Given the description of an element on the screen output the (x, y) to click on. 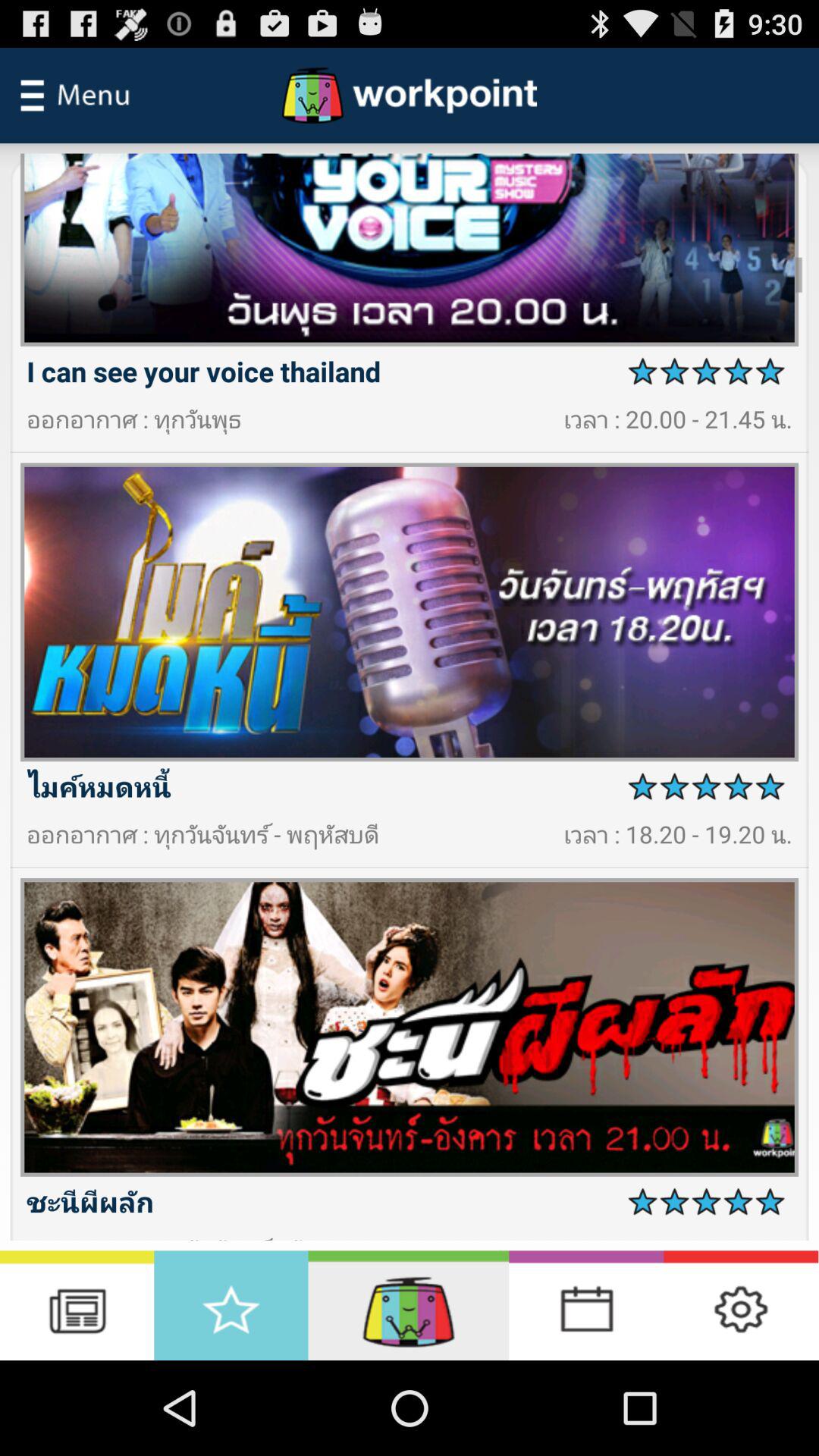
option button (408, 1305)
